Given the description of an element on the screen output the (x, y) to click on. 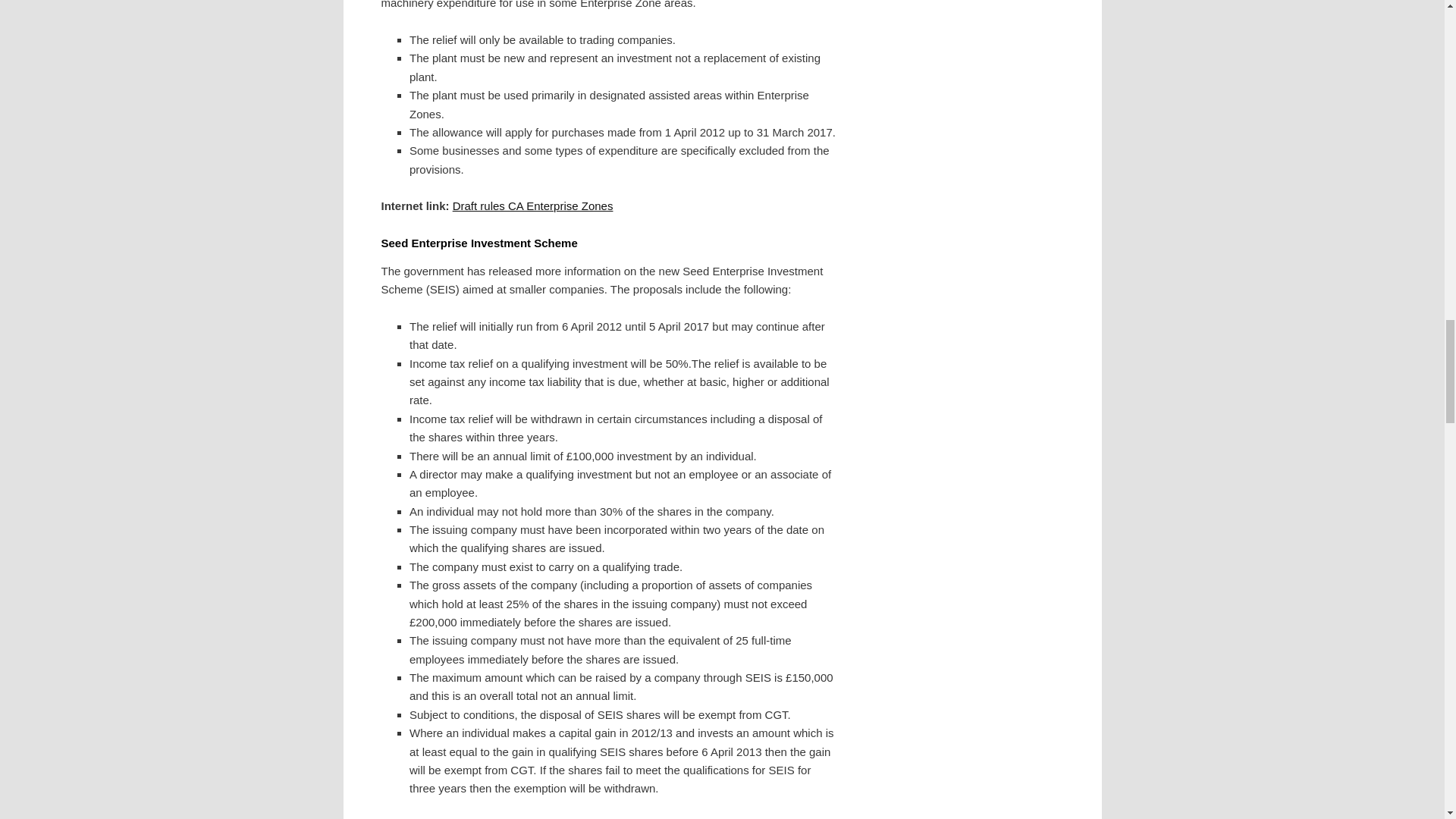
Draft rules CA Enterprise Zones (532, 205)
